Given the description of an element on the screen output the (x, y) to click on. 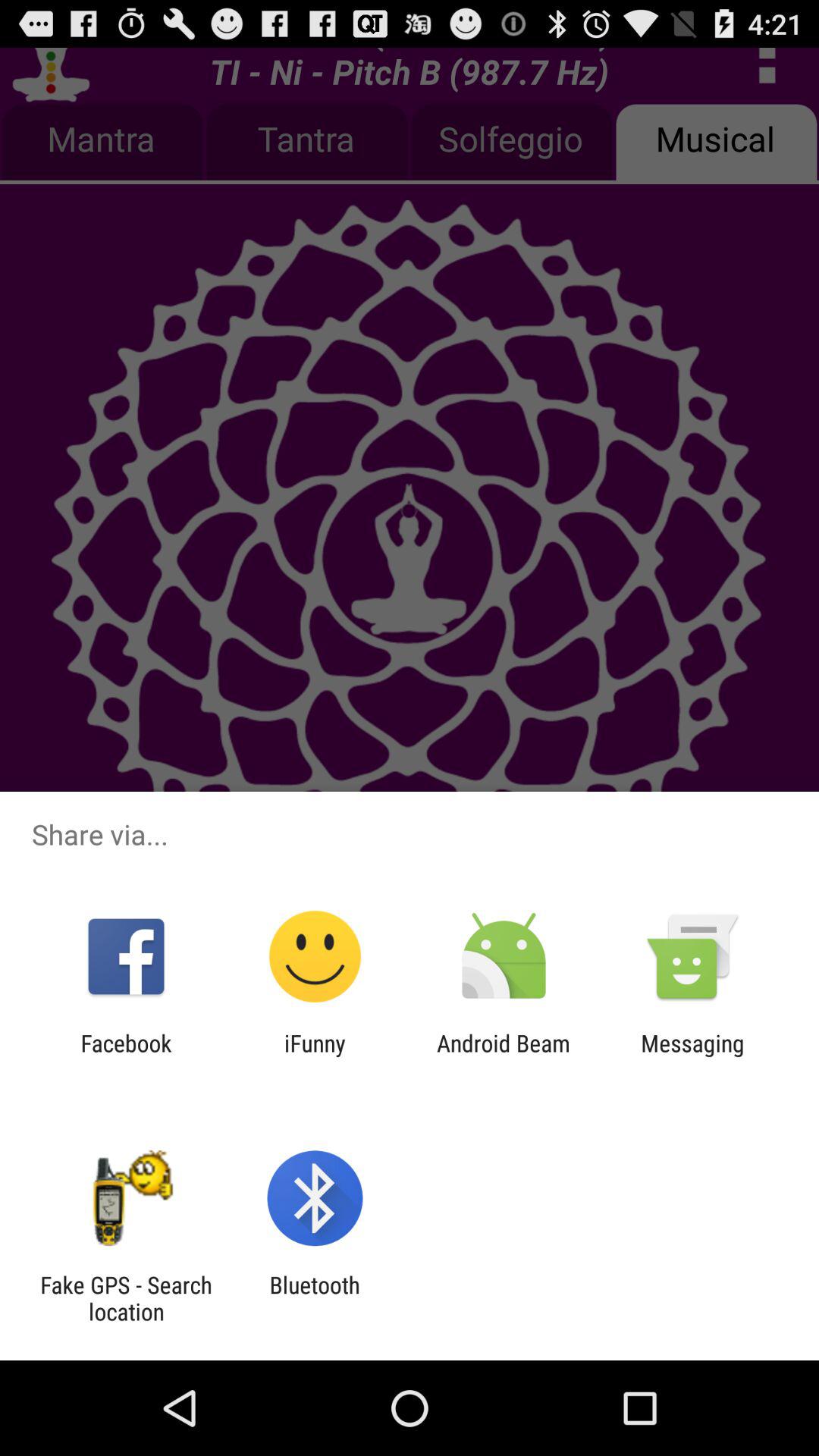
select facebook (125, 1056)
